Given the description of an element on the screen output the (x, y) to click on. 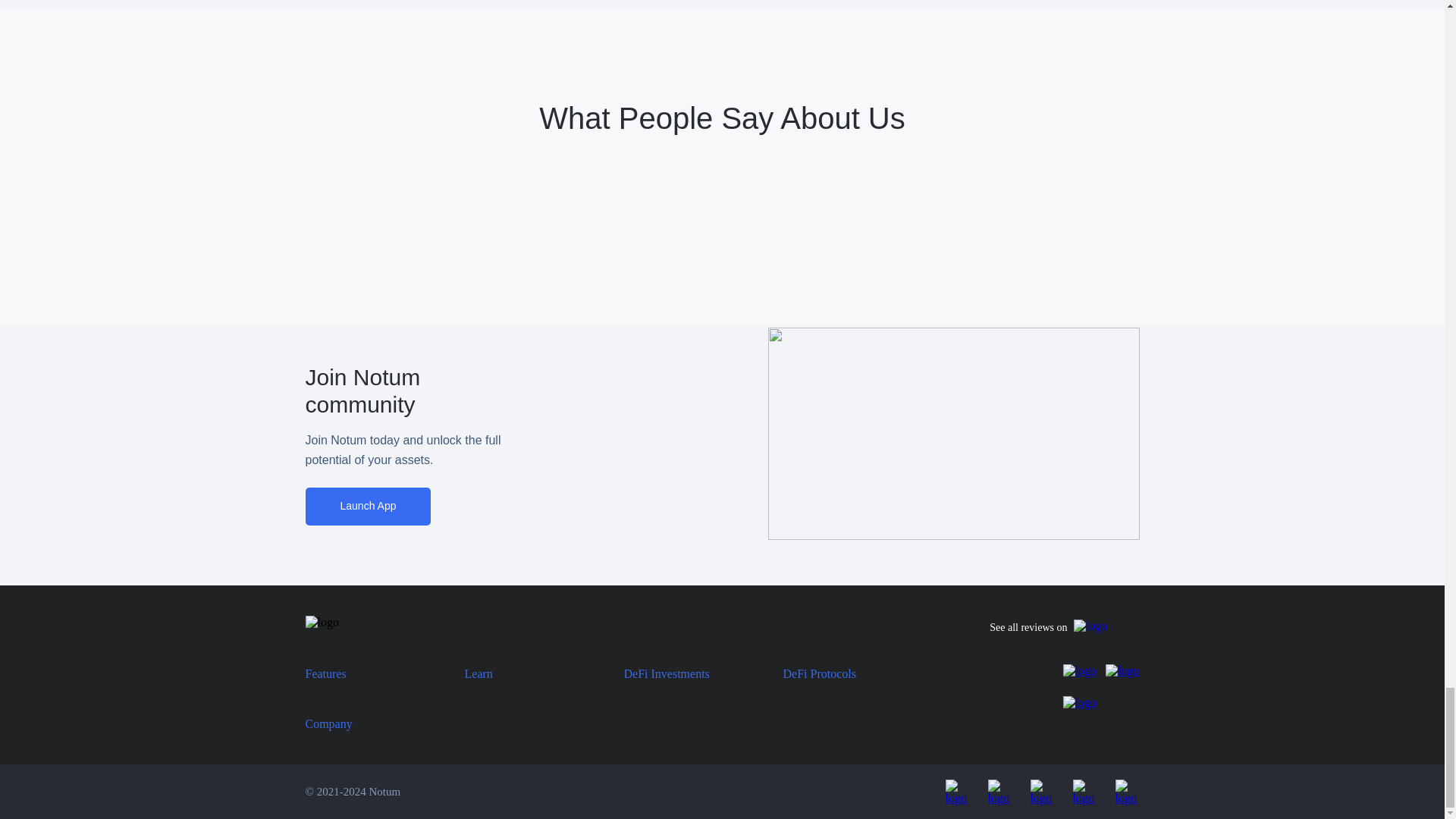
Launch App (367, 506)
See all reviews on (1064, 627)
